Given the description of an element on the screen output the (x, y) to click on. 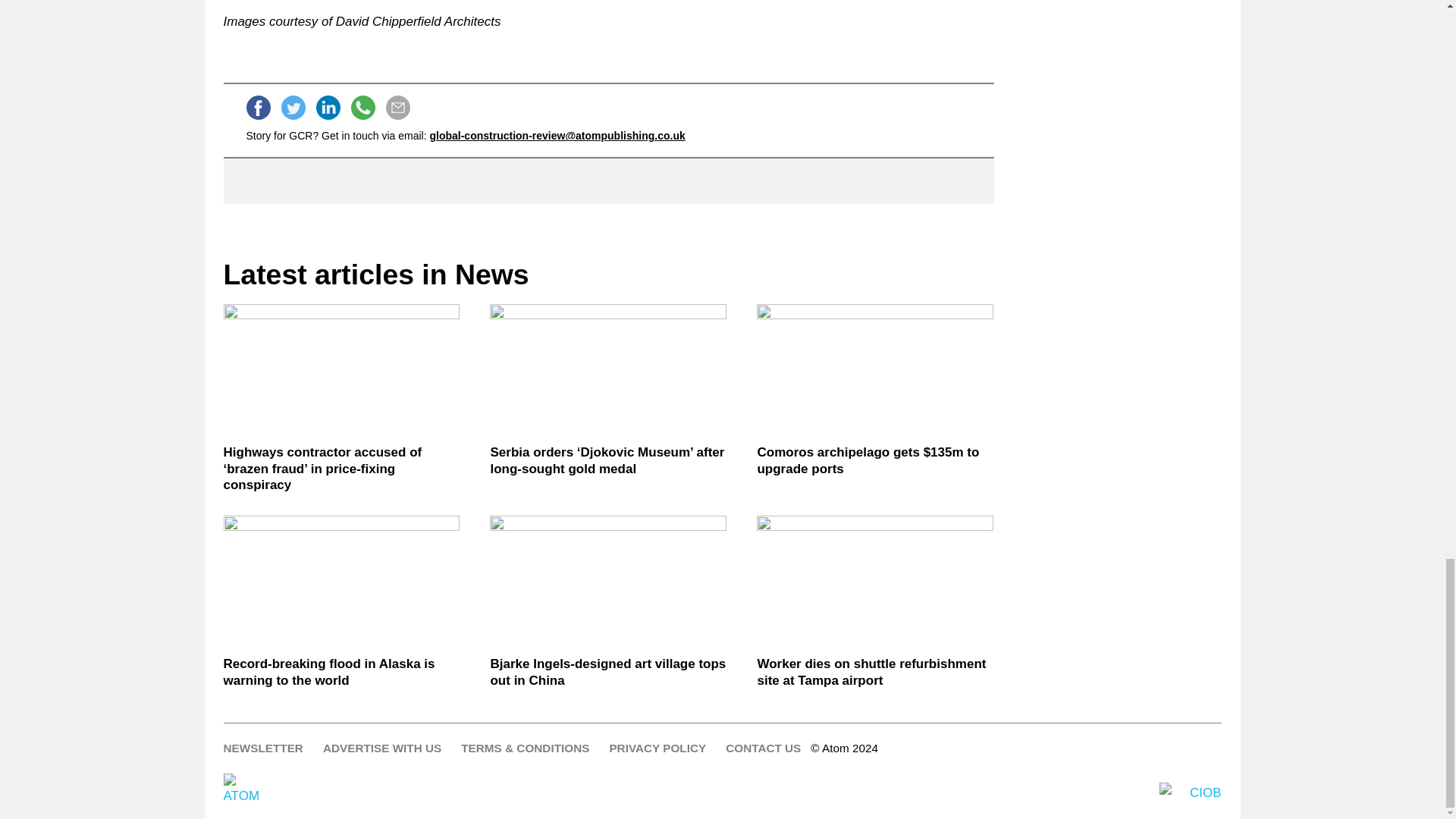
Send email (397, 107)
Share on LinkedIn (327, 107)
Tweet (292, 107)
Share on WhatsApp (362, 107)
Share on Facebook (257, 107)
